Given the description of an element on the screen output the (x, y) to click on. 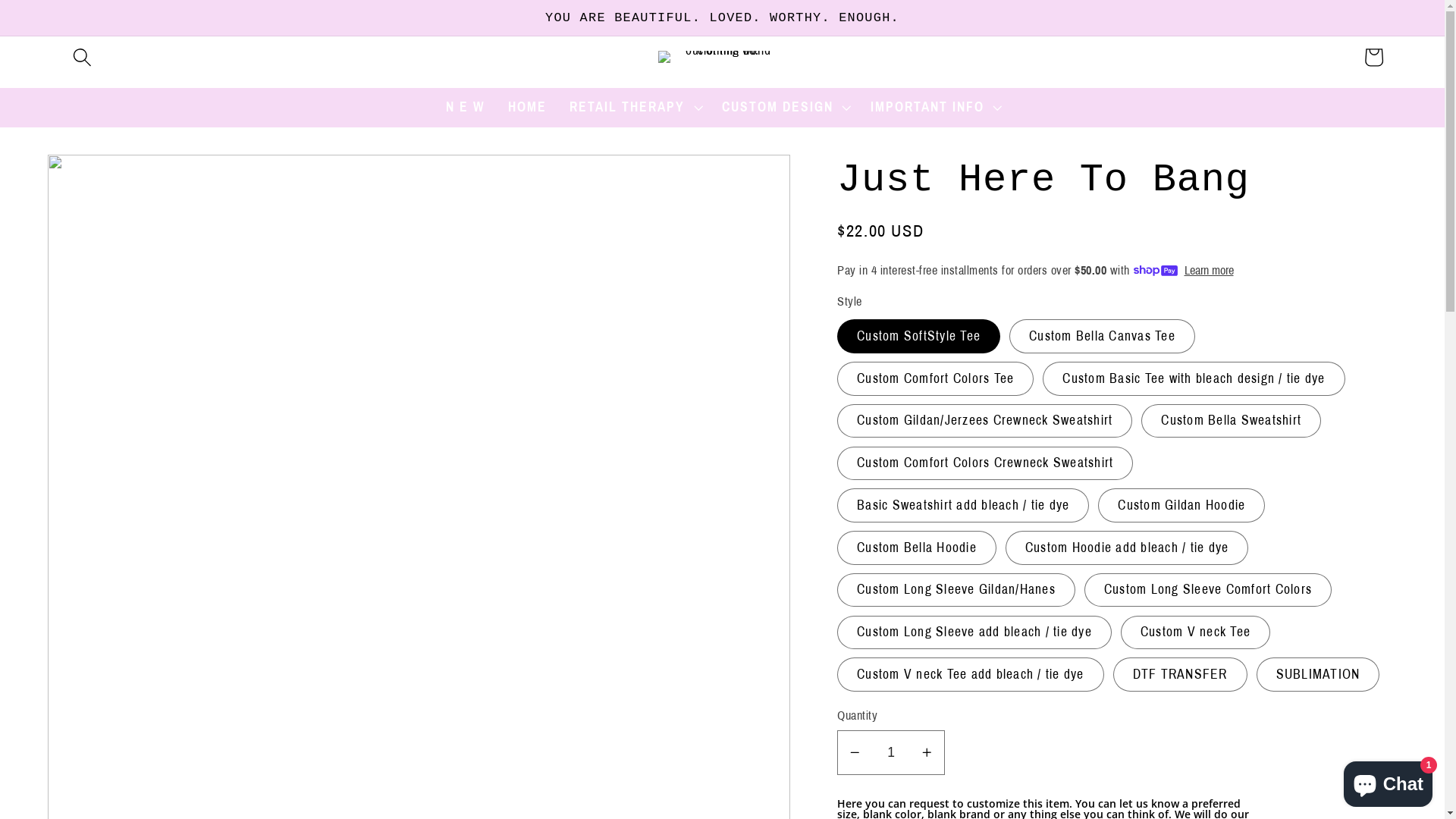
N E W Element type: text (465, 107)
Skip to product information Element type: text (104, 175)
Decrease quantity for Just Here To Bang Element type: text (854, 752)
Shopify online store chat Element type: hover (1388, 780)
Cart Element type: text (1373, 57)
Increase quantity for Just Here To Bang Element type: text (927, 752)
HOME Element type: text (527, 107)
